Given the description of an element on the screen output the (x, y) to click on. 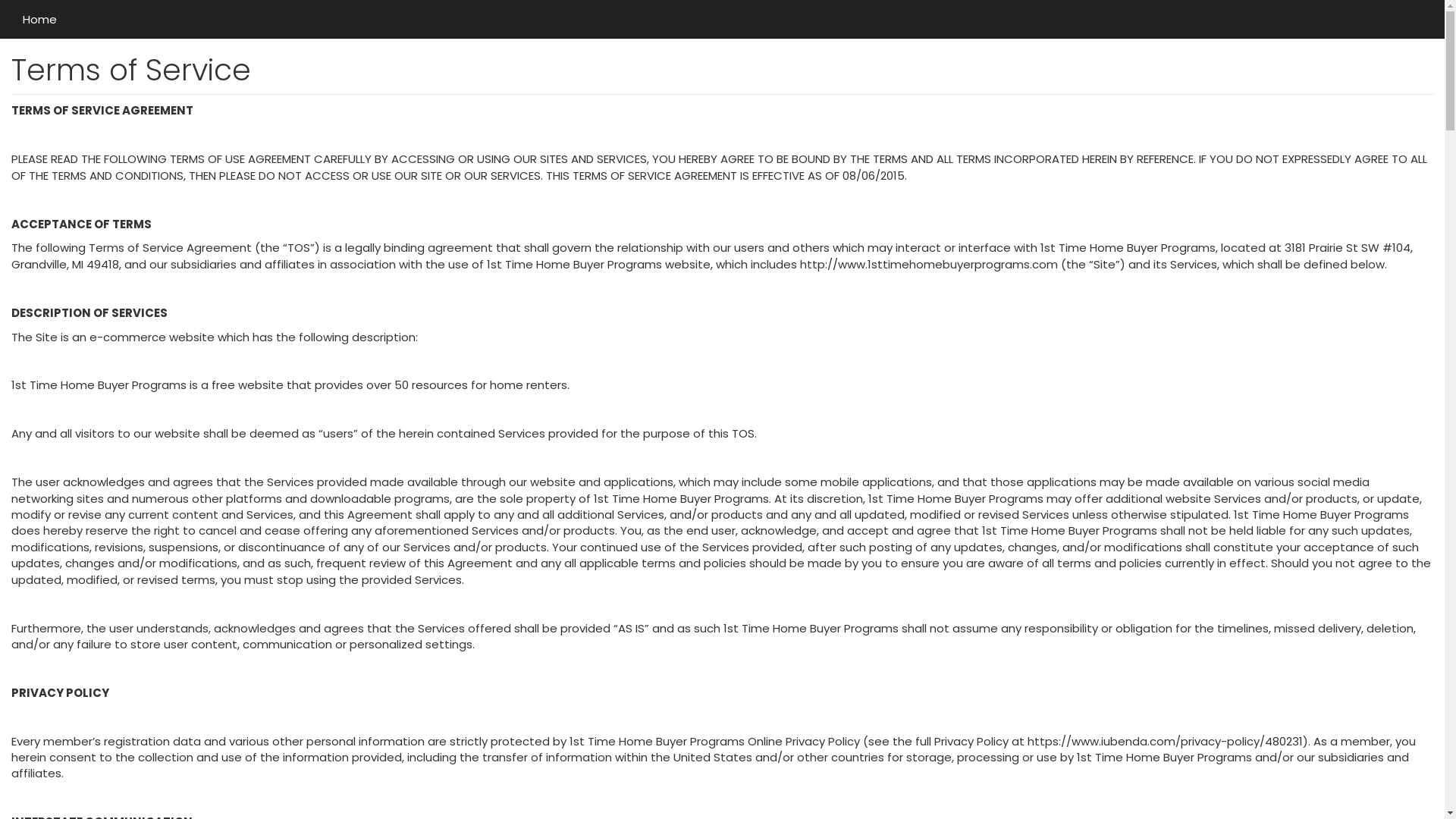
Home Element type: text (39, 18)
Skip to main content Element type: text (0, 0)
